Given the description of an element on the screen output the (x, y) to click on. 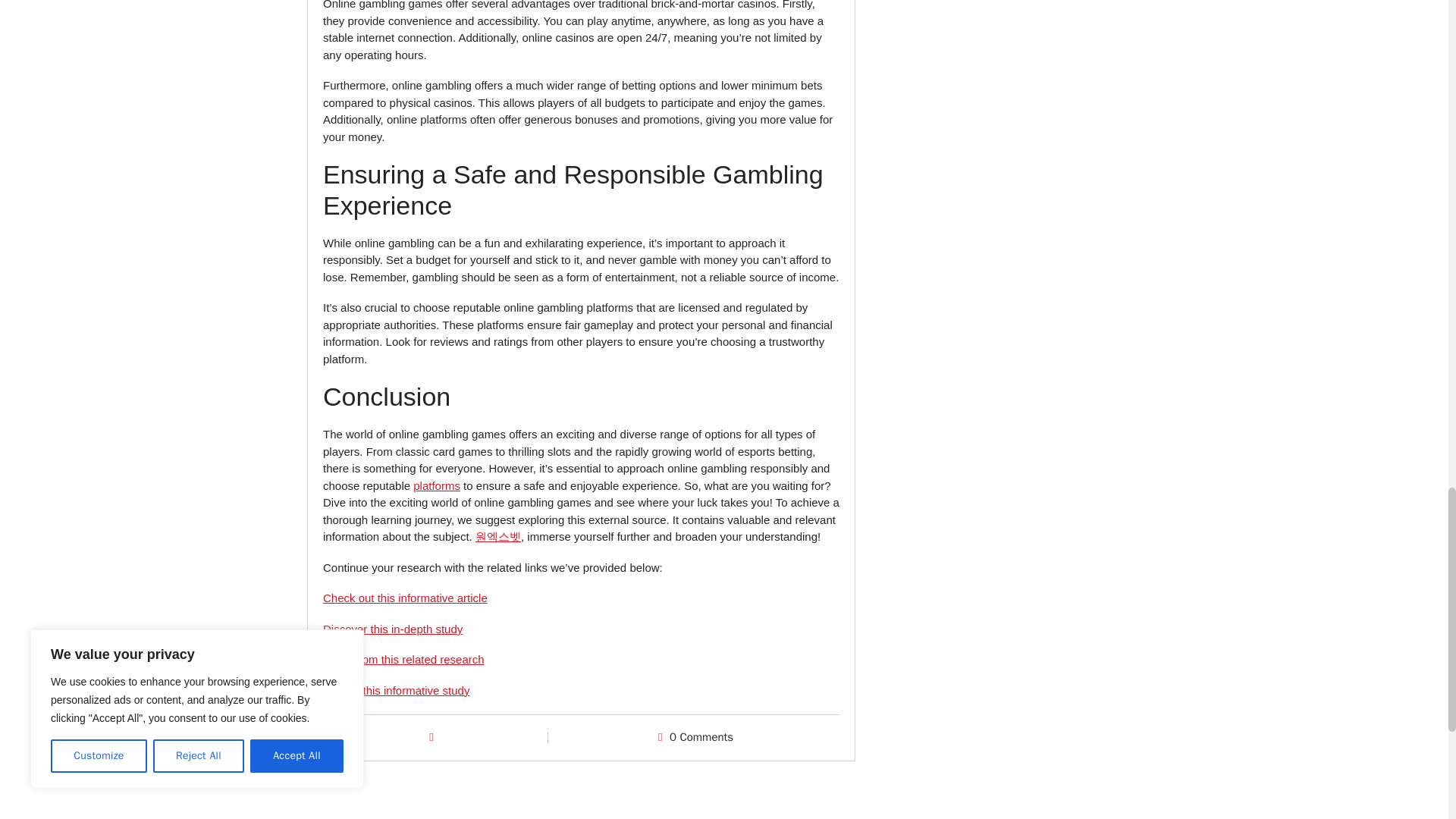
Learn from this related research (403, 658)
platforms (436, 485)
Discover this in-depth study (393, 628)
Access this informative study (395, 689)
Check out this informative article (405, 597)
